Given the description of an element on the screen output the (x, y) to click on. 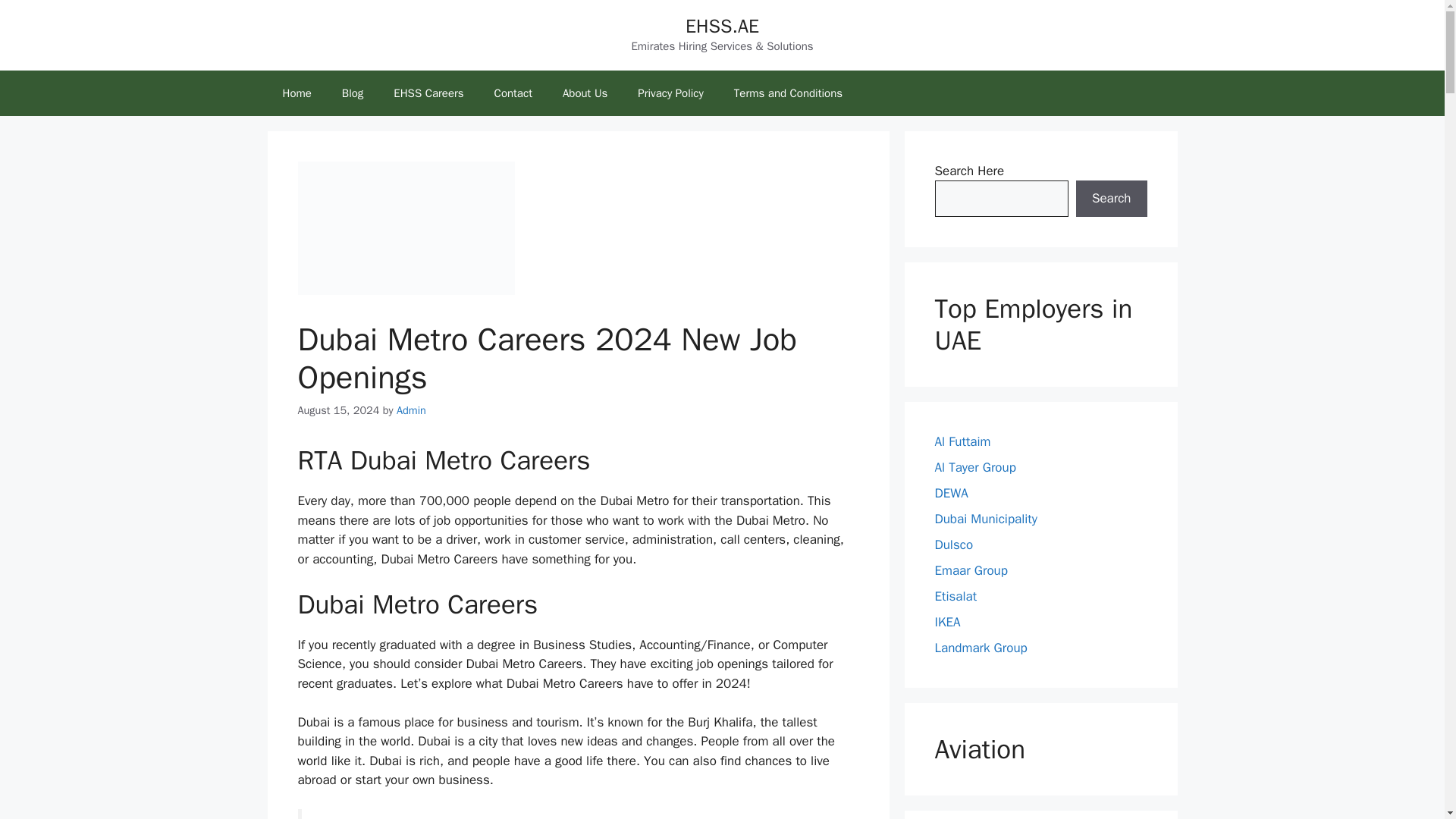
Admin (411, 409)
Terms and Conditions (788, 92)
EHSS.AE (721, 25)
View all posts by Admin (411, 409)
Home (296, 92)
Blog (352, 92)
EHSS Careers (428, 92)
Contact (513, 92)
Privacy Policy (671, 92)
About Us (585, 92)
